Given the description of an element on the screen output the (x, y) to click on. 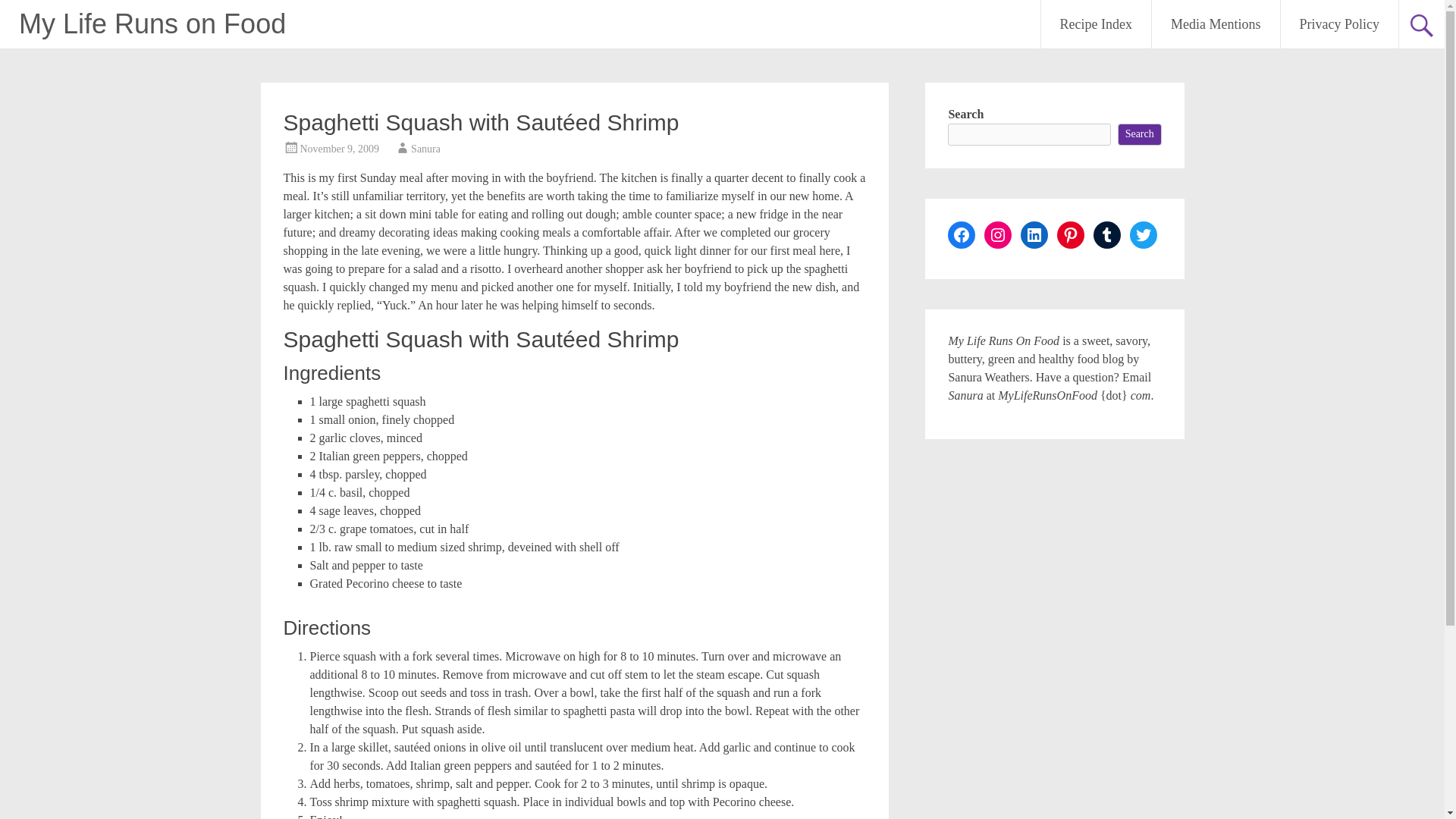
Pinterest (1070, 234)
Twitter (1143, 234)
LinkedIn (1034, 234)
My Life Runs on Food (151, 23)
Privacy Policy (1338, 24)
Recipe Index (1096, 24)
Instagram (997, 234)
November 9, 2009 (339, 148)
Sanura (425, 148)
My Life Runs on Food (151, 23)
